Given the description of an element on the screen output the (x, y) to click on. 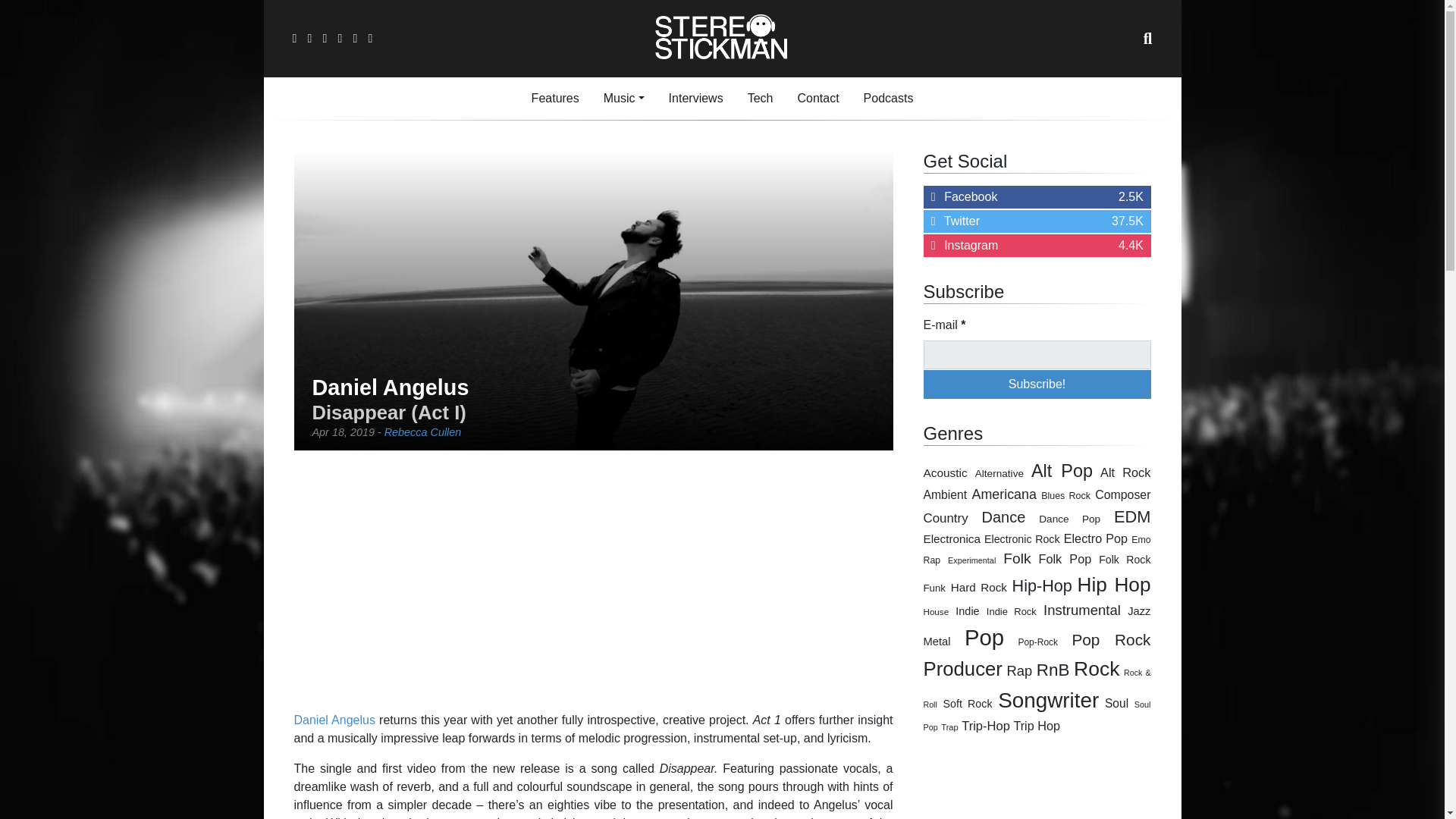
E-mail (1037, 354)
Contact (817, 98)
Rebecca Cullen (422, 431)
Tech (760, 98)
Interviews (695, 98)
Features (555, 98)
Contact (817, 98)
Features (555, 98)
Interviews (695, 98)
Subscribe! (1037, 384)
